Given the description of an element on the screen output the (x, y) to click on. 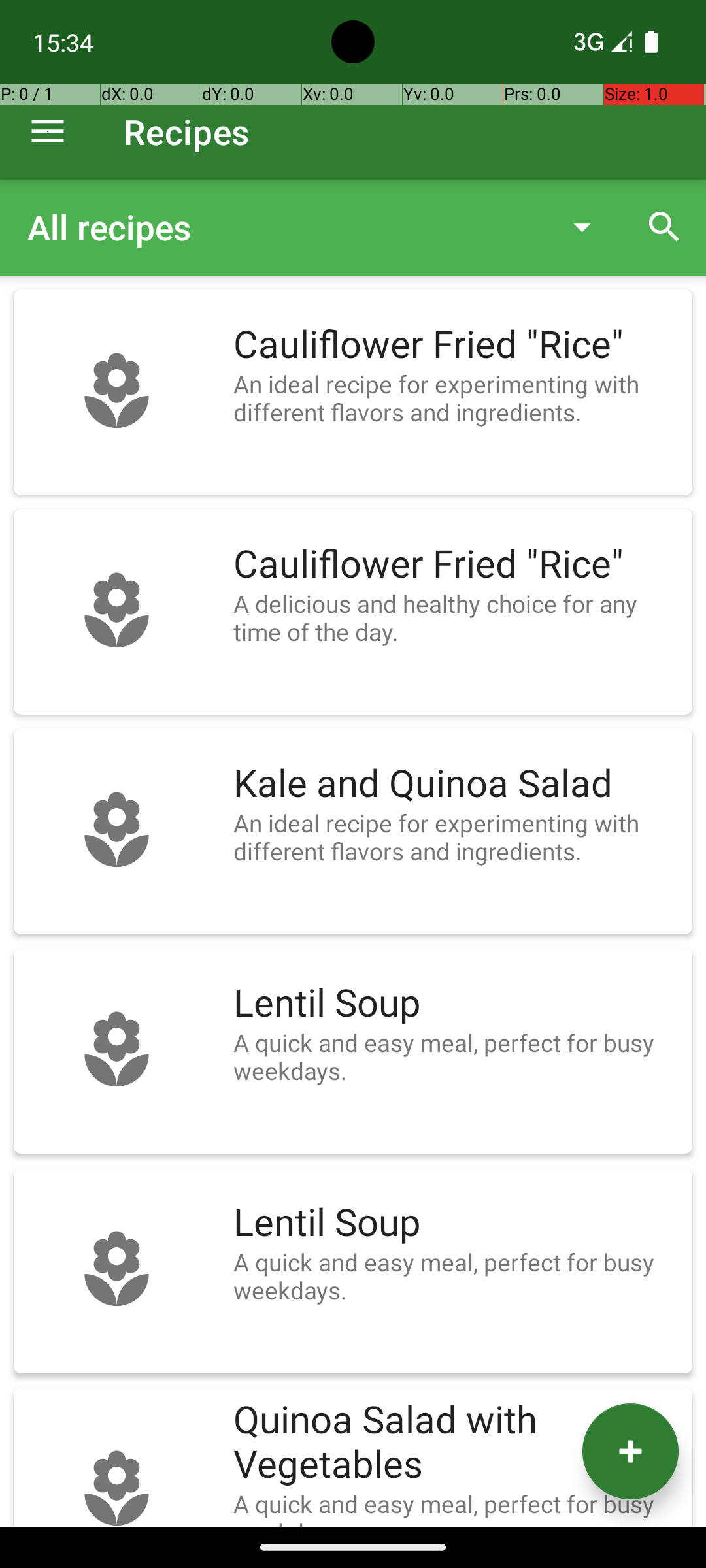
Kale and Quinoa Salad Element type: android.widget.TextView (455, 783)
Lentil Soup Element type: android.widget.TextView (455, 1003)
Quinoa Salad with Vegetables Element type: android.widget.TextView (455, 1442)
